Given the description of an element on the screen output the (x, y) to click on. 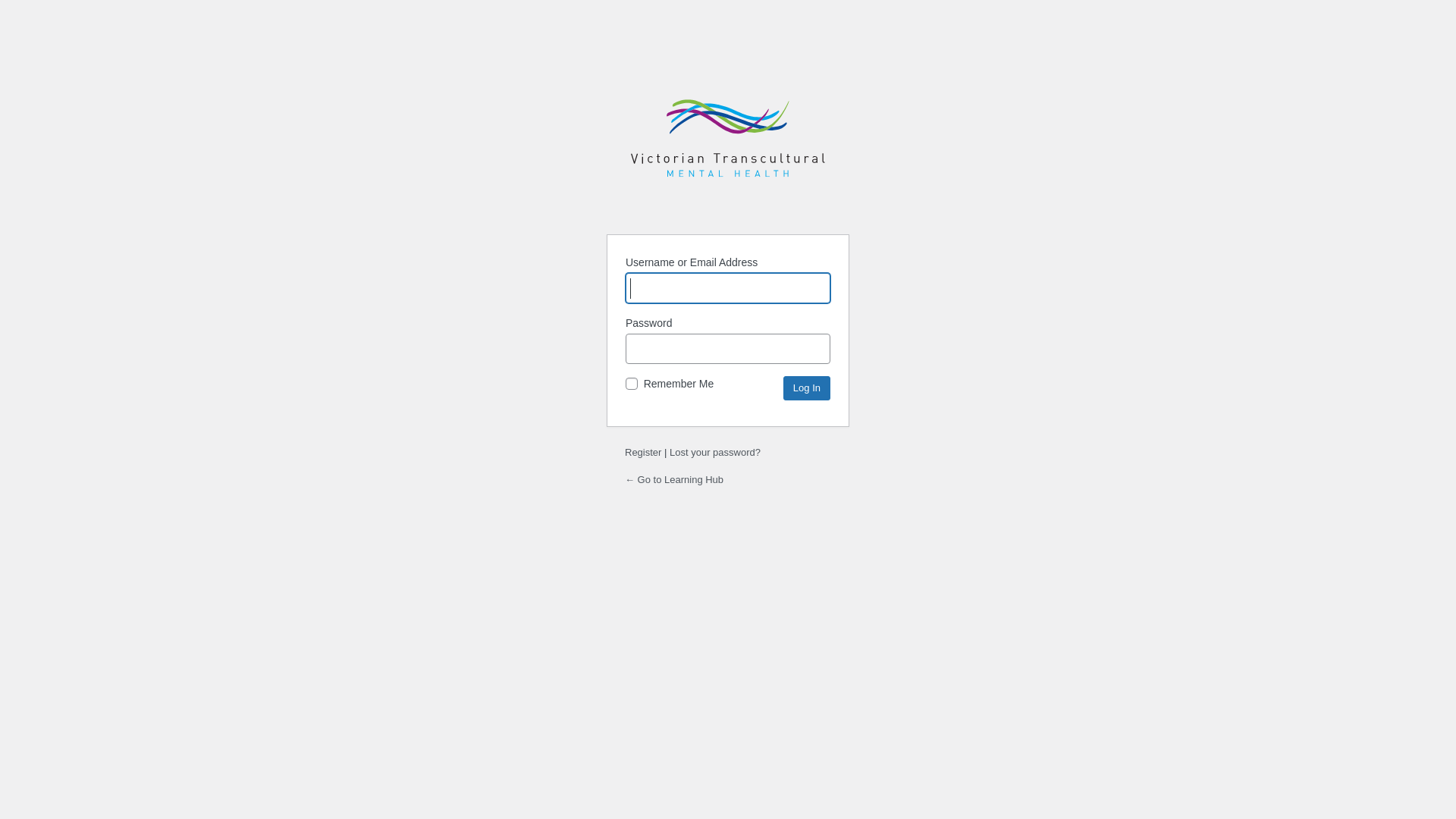
Register Element type: text (642, 452)
Learning Hub Element type: text (727, 143)
Lost your password? Element type: text (714, 452)
Log In Element type: text (806, 388)
